Given the description of an element on the screen output the (x, y) to click on. 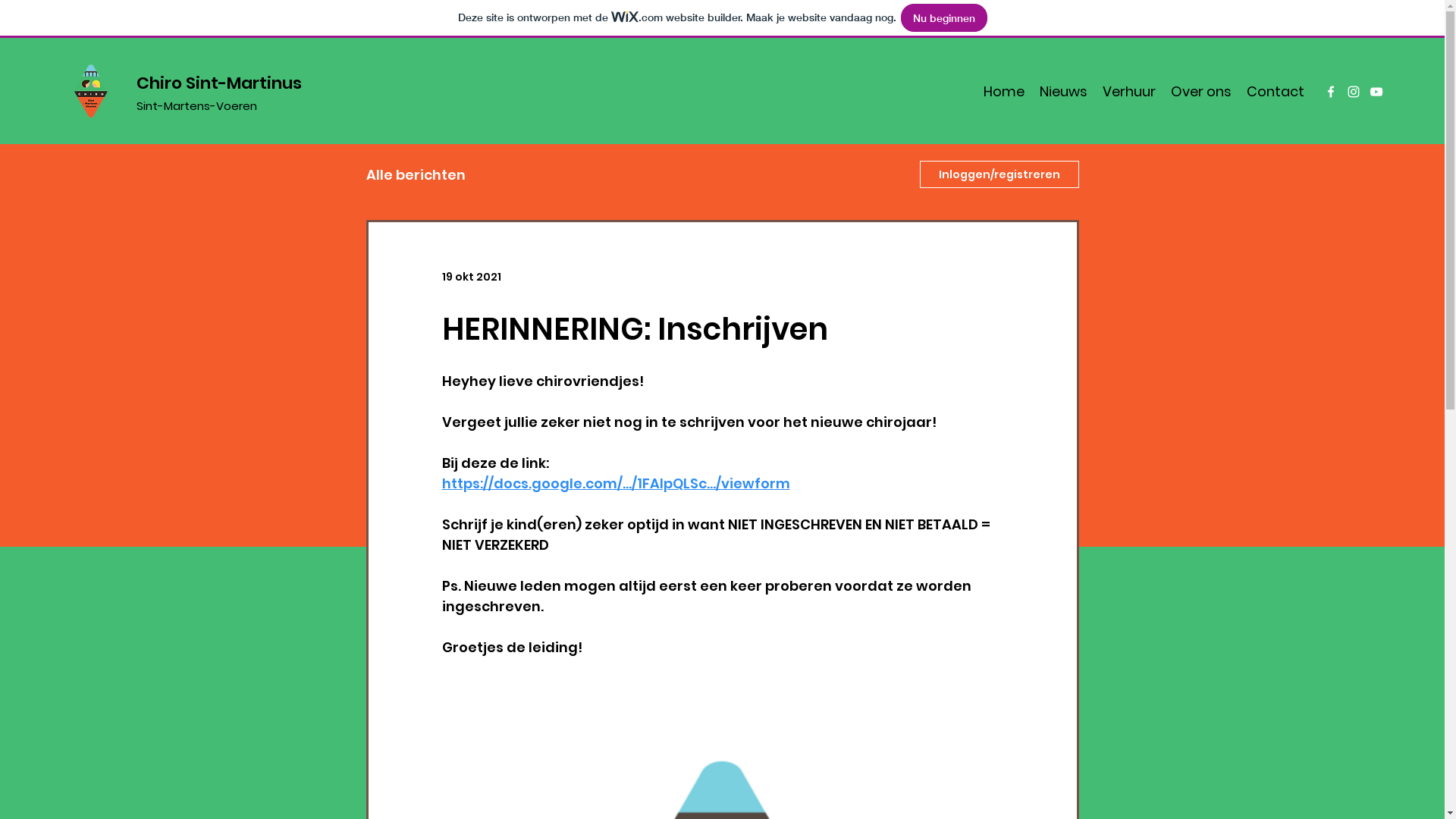
Chiro Sint-Martinus Element type: text (218, 82)
Nieuws Element type: text (1063, 91)
Home Element type: text (1003, 91)
https://docs.google.com/.../1FAIpQLSc.../viewform Element type: text (615, 482)
Over ons Element type: text (1201, 91)
Verhuur Element type: text (1129, 91)
Alle berichten Element type: text (414, 173)
Contact Element type: text (1275, 91)
Inloggen/registreren Element type: text (998, 174)
